Given the description of an element on the screen output the (x, y) to click on. 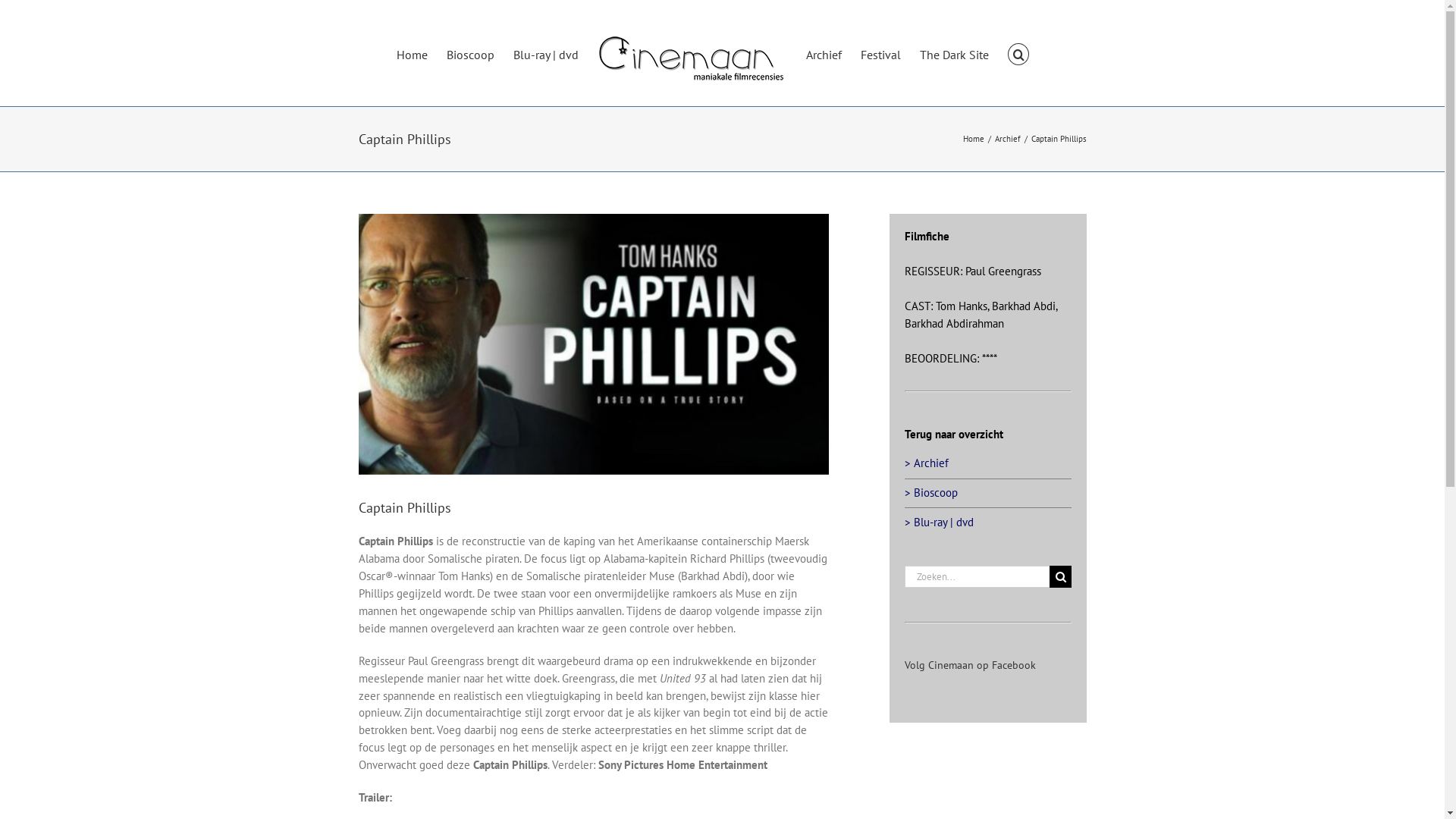
Archief Element type: text (823, 52)
Home Element type: text (973, 138)
Bioscoop Element type: text (470, 52)
Blu-ray | dvd Element type: text (545, 52)
Archief Element type: text (1007, 138)
Home Element type: text (411, 52)
> Bioscoop Element type: text (930, 492)
> Blu-ray | dvd Element type: text (937, 521)
Festival Element type: text (880, 52)
The Dark Site Element type: text (953, 52)
Bekijk grotere afbeelding Element type: text (592, 343)
> Archief Element type: text (925, 462)
Zoeken Element type: hover (1018, 52)
